Given the description of an element on the screen output the (x, y) to click on. 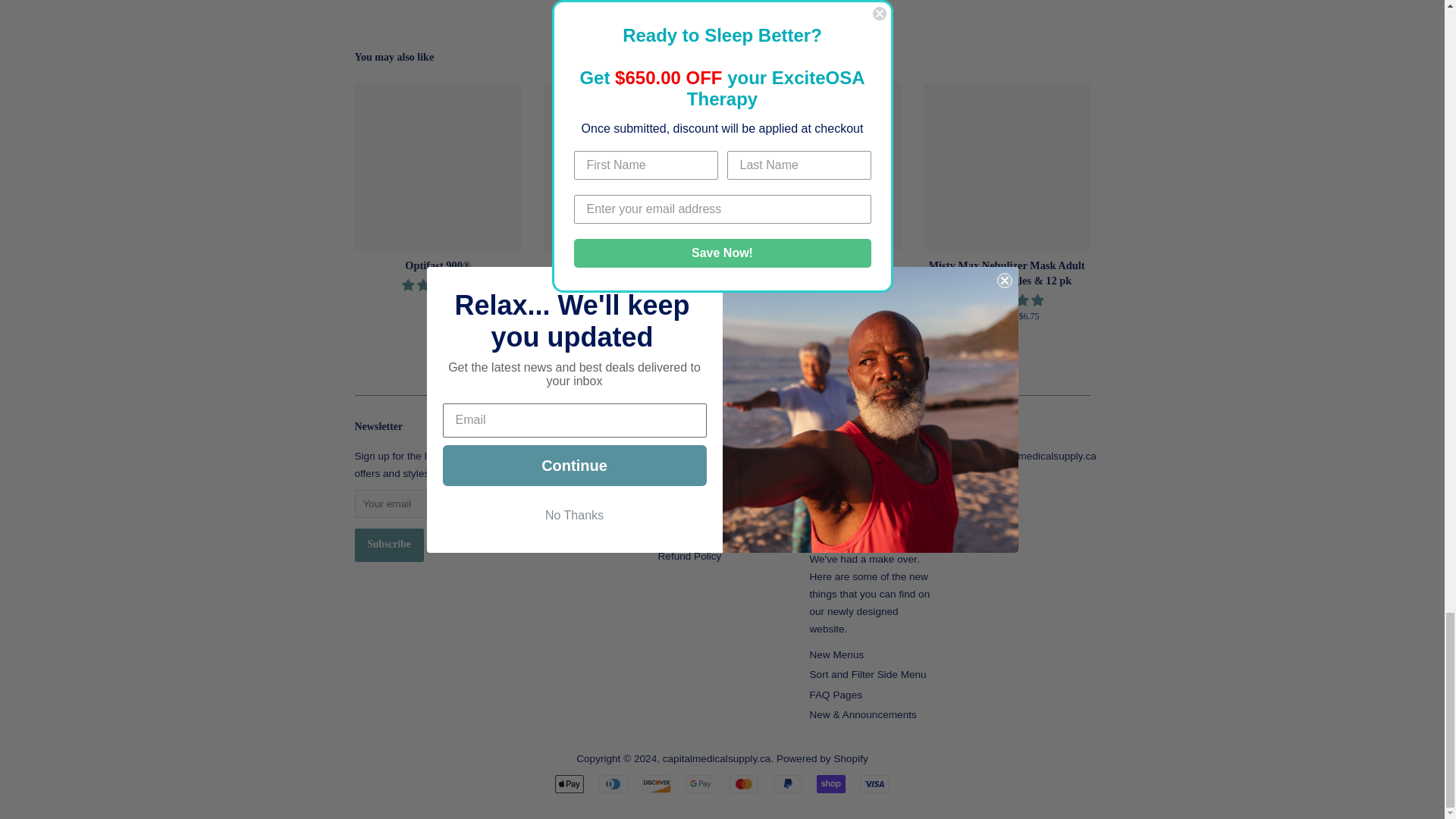
Visa (874, 783)
PayPal (787, 783)
Apple Pay (568, 783)
Google Pay (699, 783)
Diners Club (612, 783)
Mastercard (743, 783)
Subscribe (389, 544)
Discover (656, 783)
Shop Pay (830, 783)
